Given the description of an element on the screen output the (x, y) to click on. 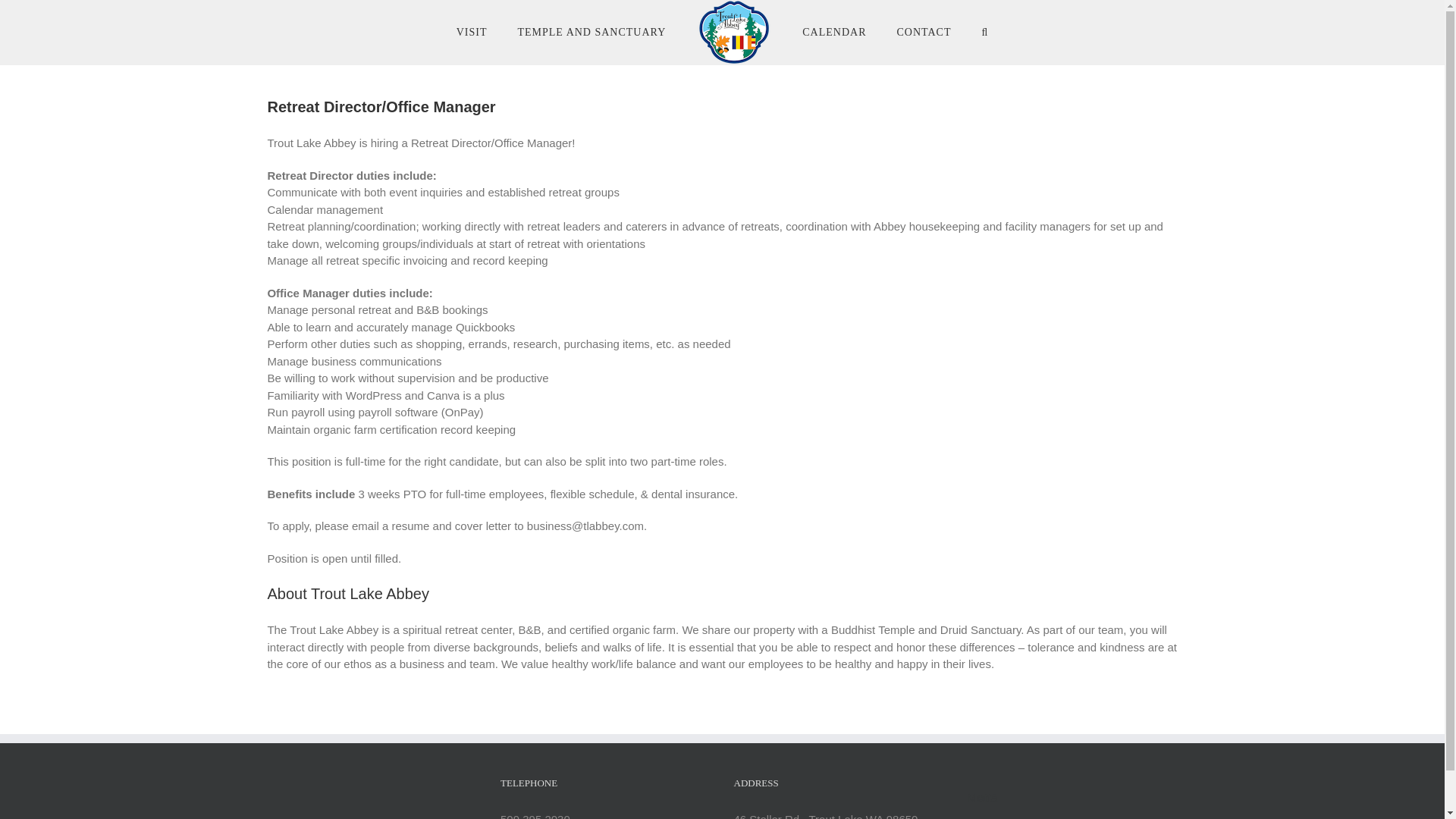
TEMPLE AND SANCTUARY (590, 32)
CONTACT (923, 32)
CALENDAR (834, 32)
